Given the description of an element on the screen output the (x, y) to click on. 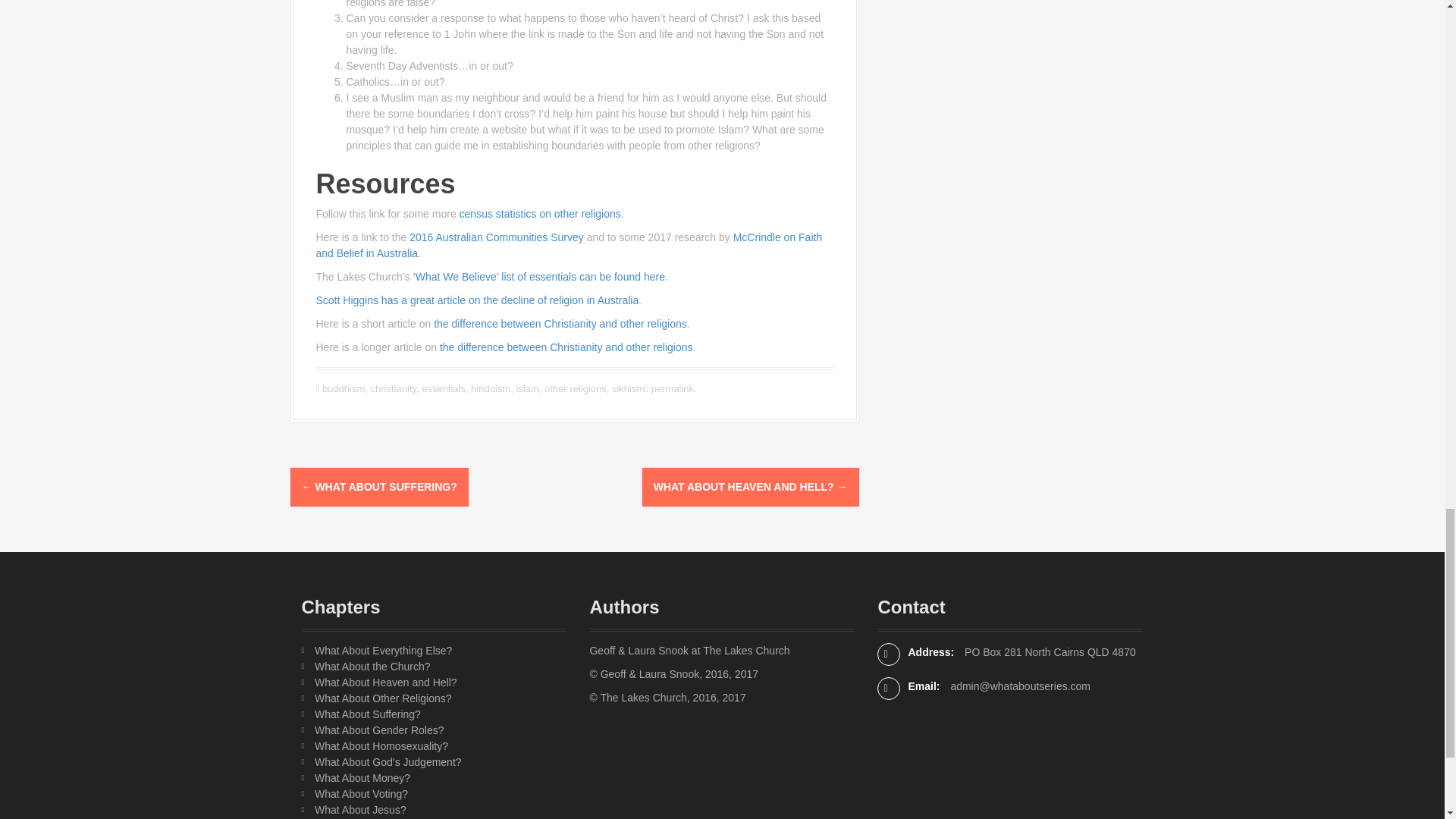
the difference between Christianity and other religions (560, 323)
permalink (670, 388)
What About Jesus? (360, 809)
What About Suffering? (367, 714)
McCrindle on Faith and Belief in Australia (568, 244)
What About Gender Roles? (379, 729)
What About Homosexuality? (381, 746)
essentials (443, 388)
buddhism (343, 388)
islam (526, 388)
What About Other Religions? (382, 698)
What About Money? (362, 777)
What About Everything Else? (382, 650)
What About the Church? (372, 666)
other religions (575, 388)
